Given the description of an element on the screen output the (x, y) to click on. 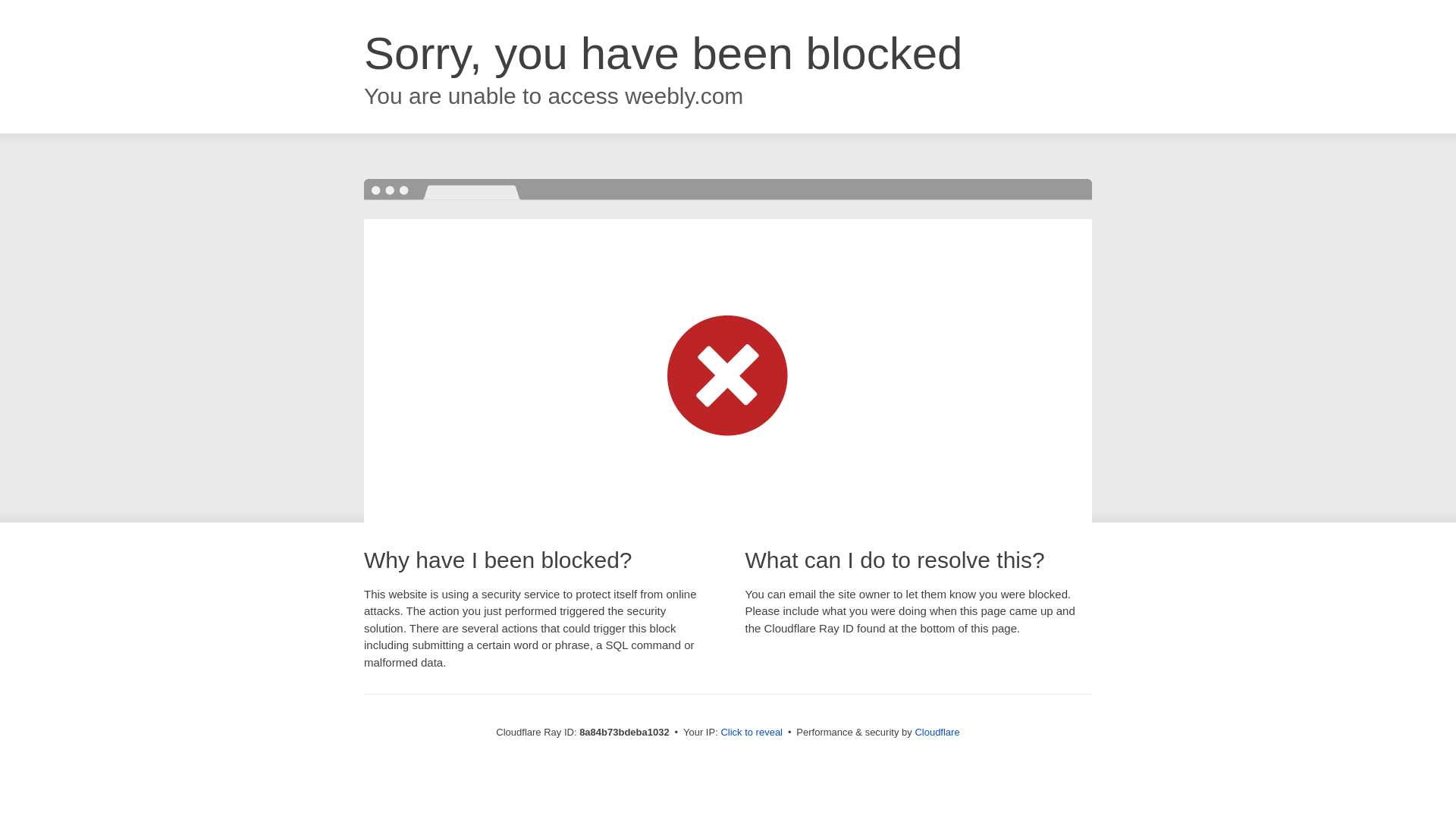
Click to reveal (751, 732)
Cloudflare (936, 731)
